Given the description of an element on the screen output the (x, y) to click on. 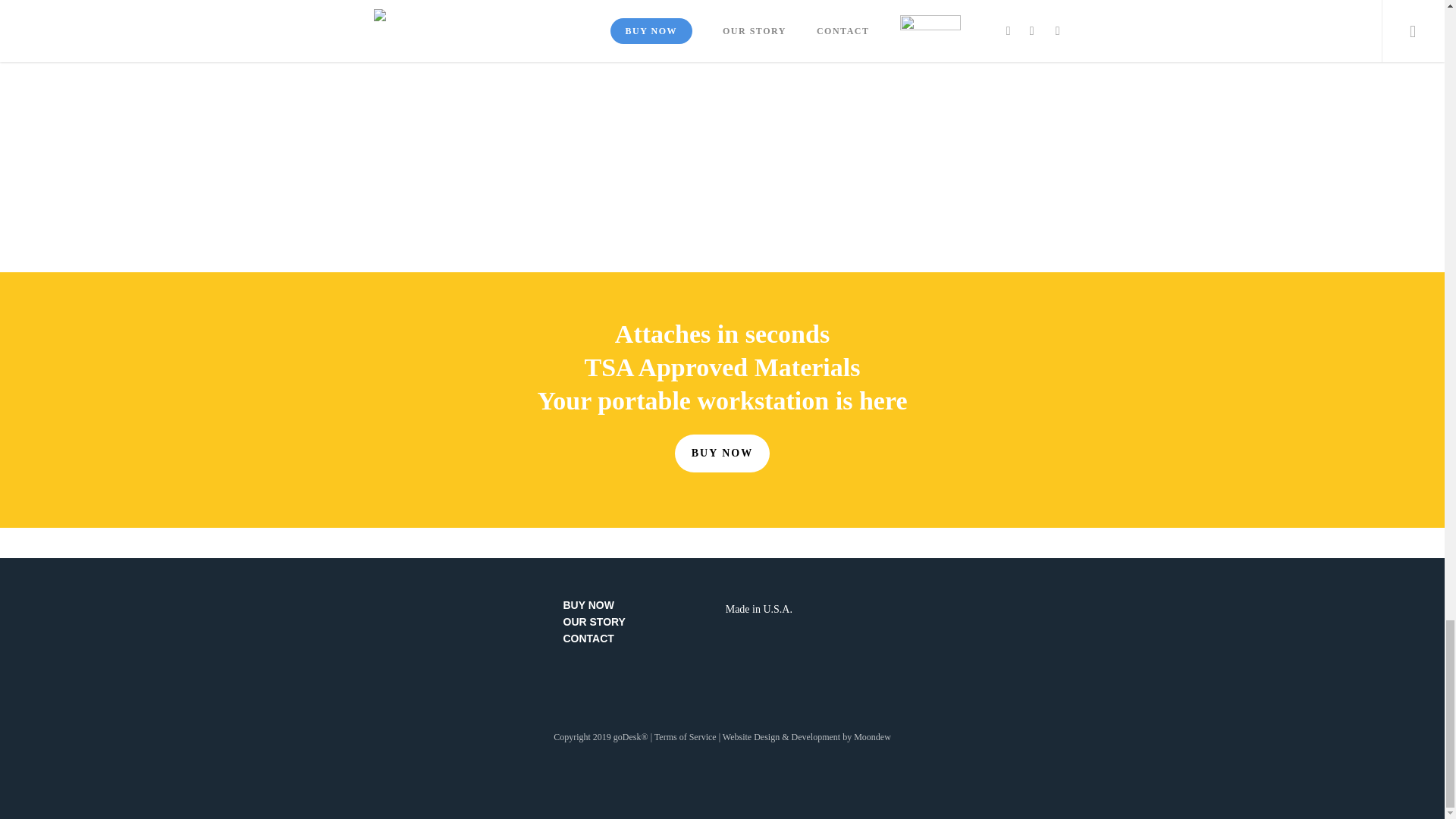
Terms of Service (684, 737)
BUY NOW (640, 604)
OUR STORY (640, 621)
CONTACT (640, 638)
BUY NOW (722, 453)
